Given the description of an element on the screen output the (x, y) to click on. 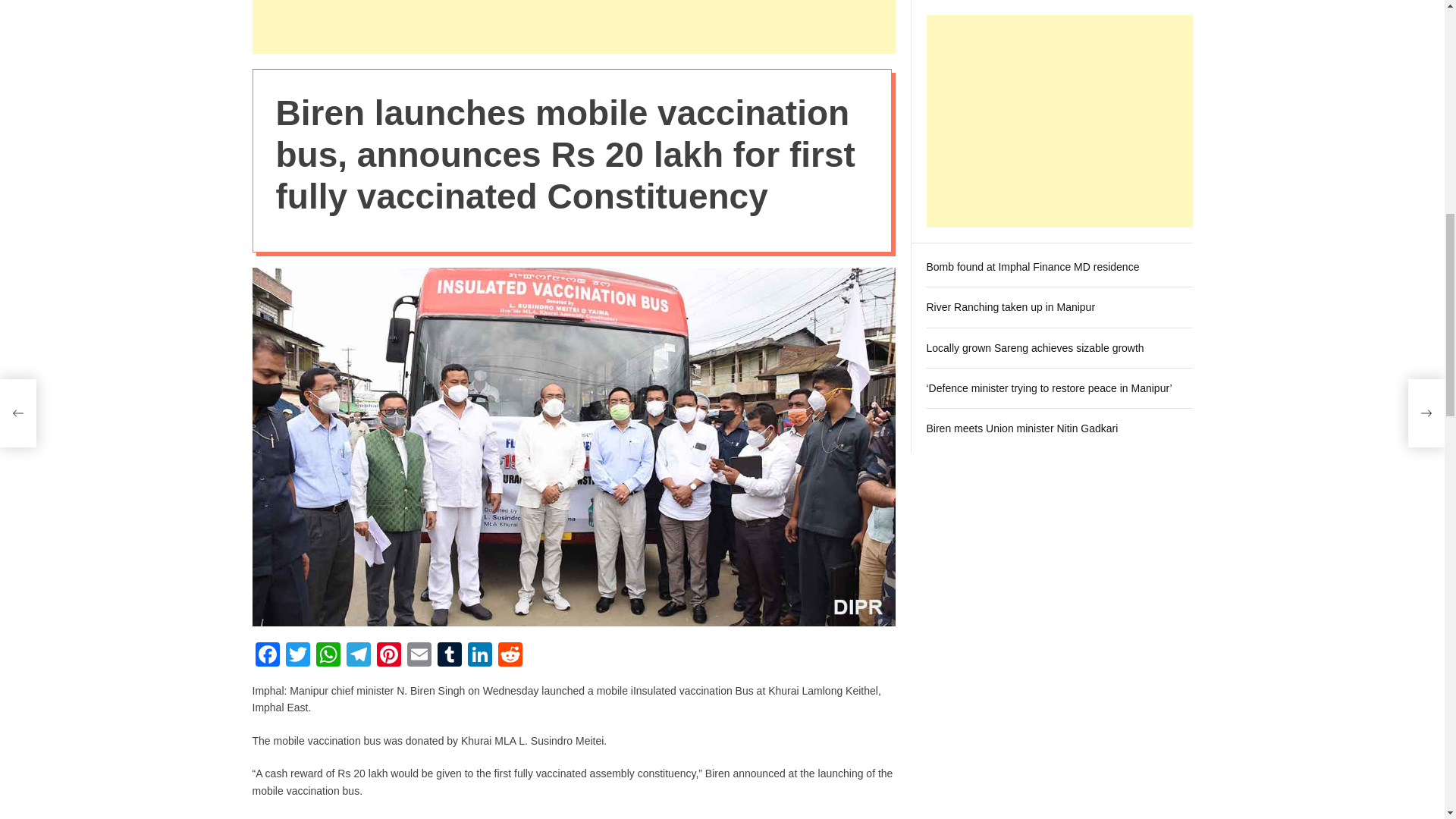
Reddit (509, 656)
LinkedIn (479, 656)
Twitter (297, 656)
LinkedIn (479, 656)
Telegram (357, 656)
Facebook (266, 656)
Bomb found at Imphal Finance MD residence (1033, 87)
Pinterest (387, 656)
River Ranching taken up in Manipur (1011, 127)
Tumblr (448, 656)
Pinterest (387, 656)
Facebook (266, 656)
Locally grown Sareng achieves sizable growth (1035, 168)
Email (418, 656)
Telegram (357, 656)
